Given the description of an element on the screen output the (x, y) to click on. 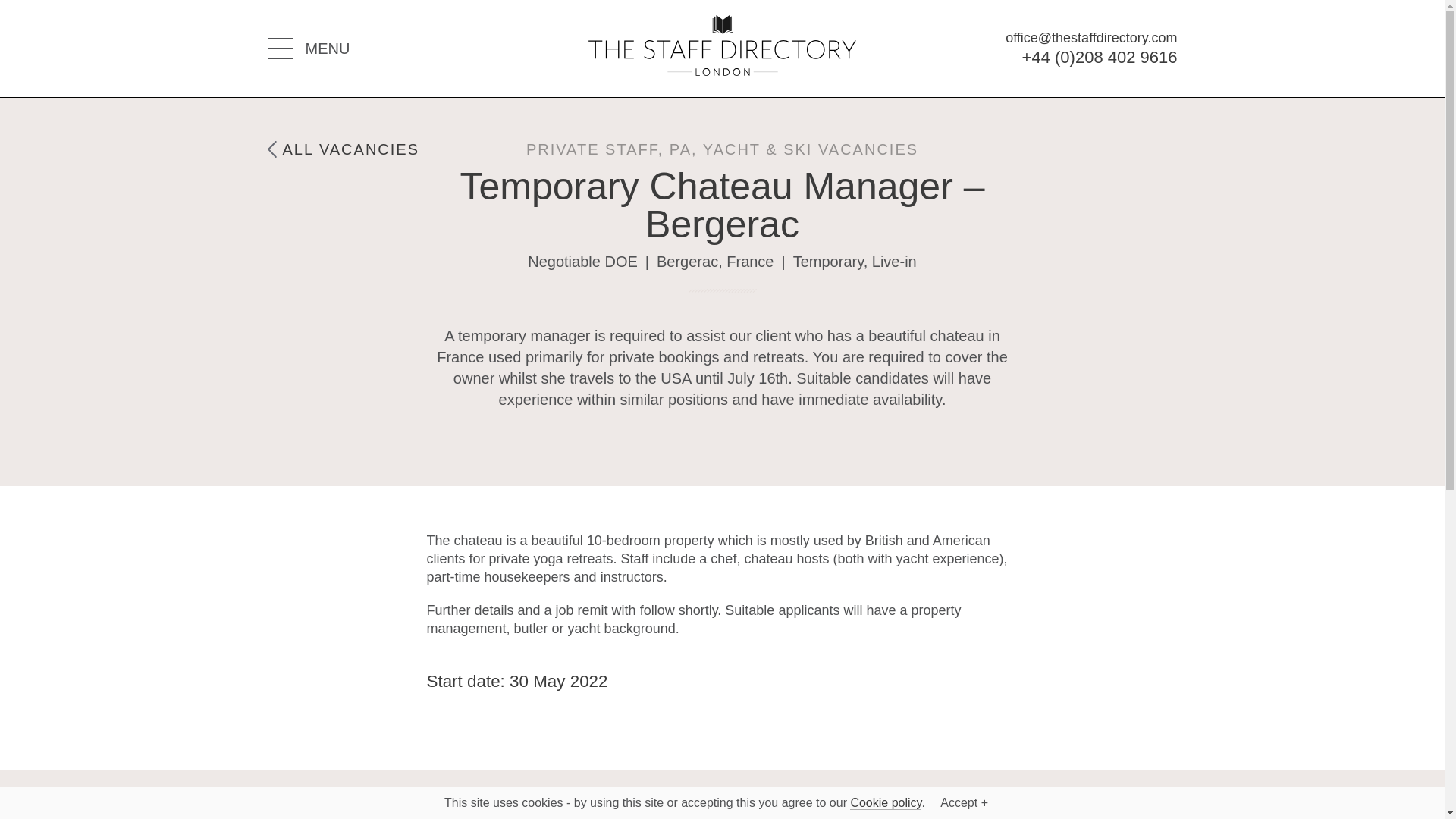
ALL VACANCIES (342, 149)
